Given the description of an element on the screen output the (x, y) to click on. 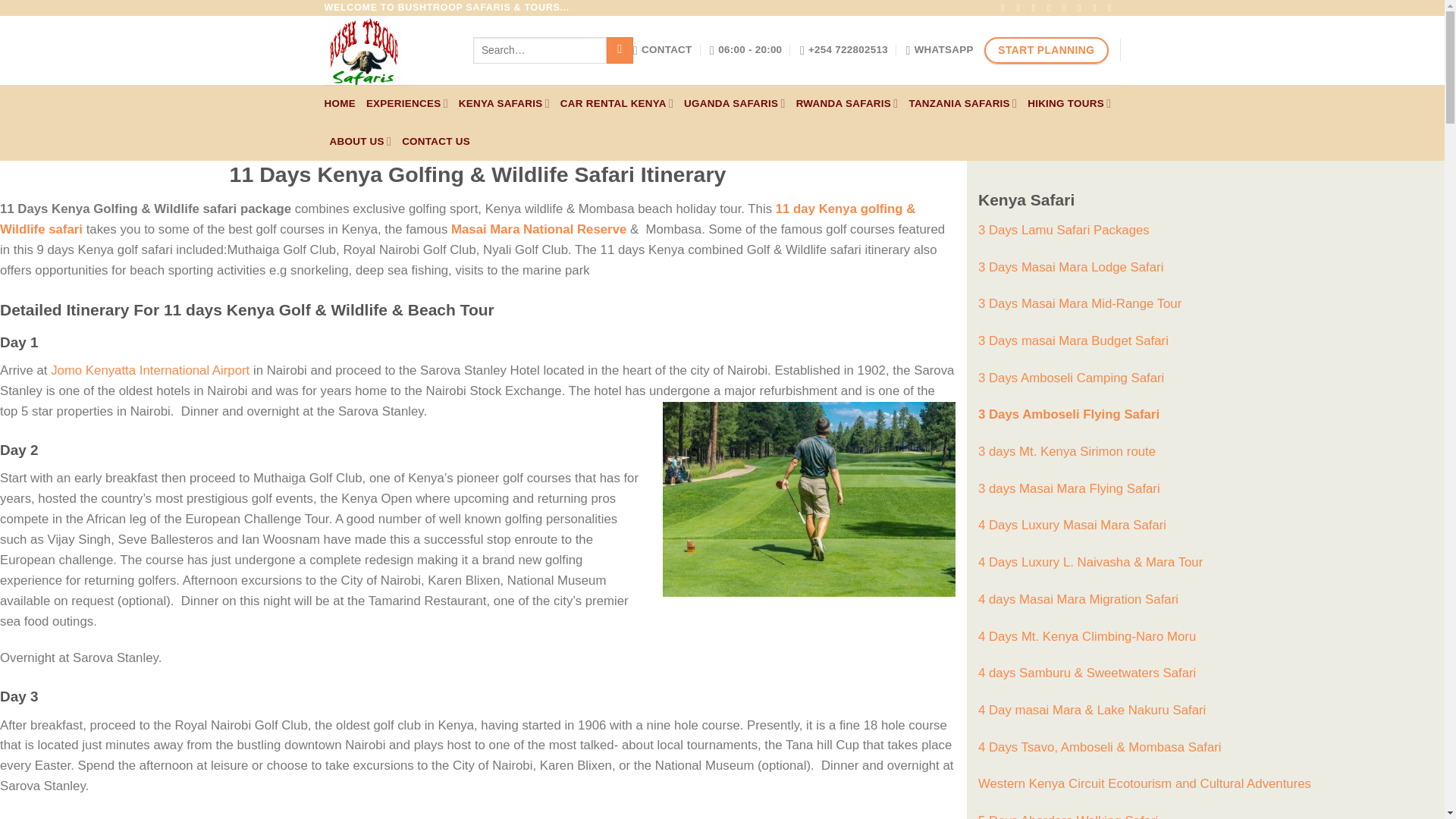
Follow on Instagram (1021, 8)
Search (620, 49)
UGANDA SAFARIS (735, 103)
Follow on X (1051, 8)
CAR RENTAL KENYA (616, 103)
Follow on LinkedIn (1113, 8)
Bushtroop-Safaris (386, 50)
Follow on TikTok (1035, 8)
Follow on Pinterest (1097, 8)
EXPERIENCES (407, 103)
